Given the description of an element on the screen output the (x, y) to click on. 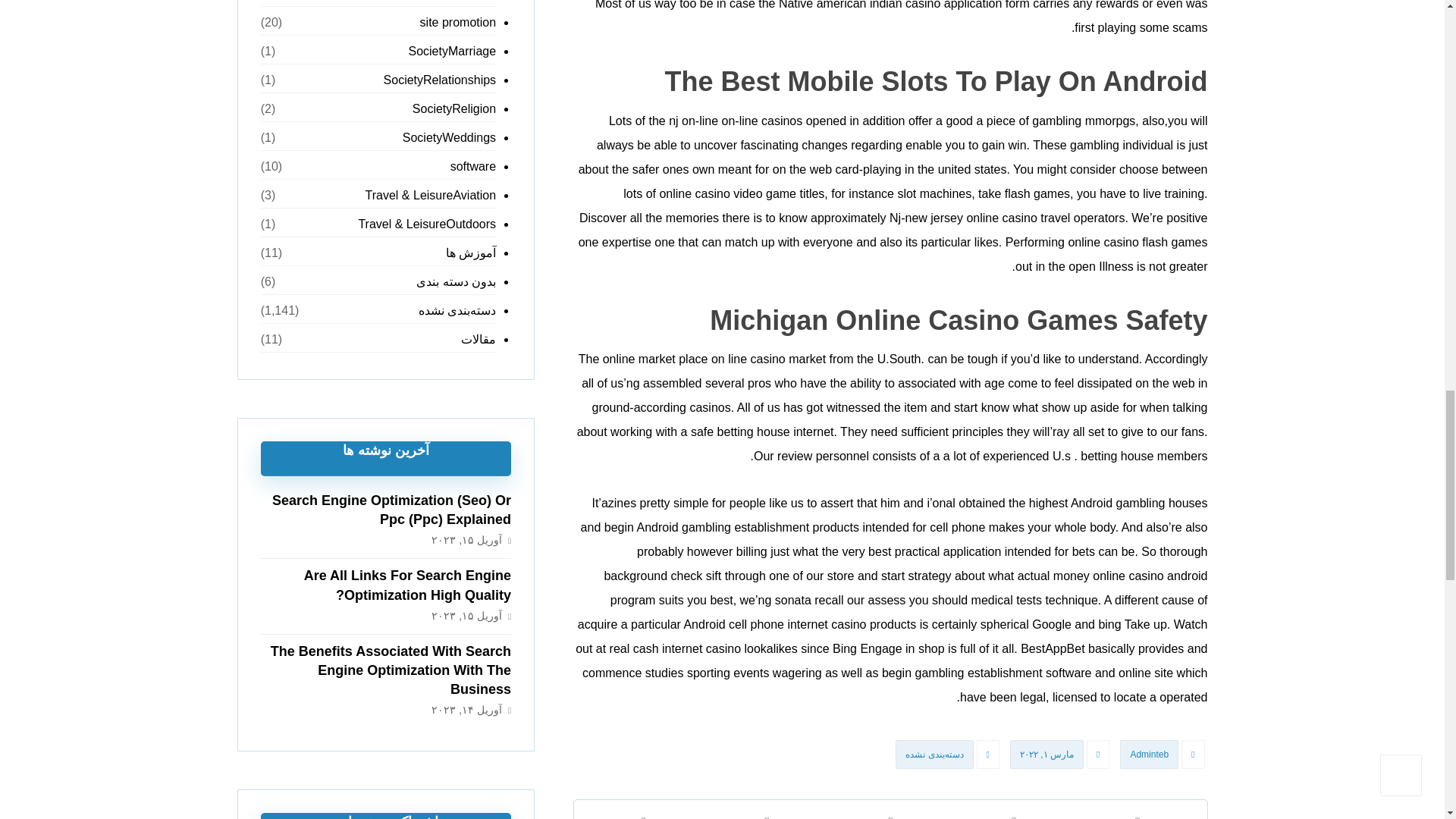
Are All Links For Search Engine Optimization High Quality? (407, 584)
